Given the description of an element on the screen output the (x, y) to click on. 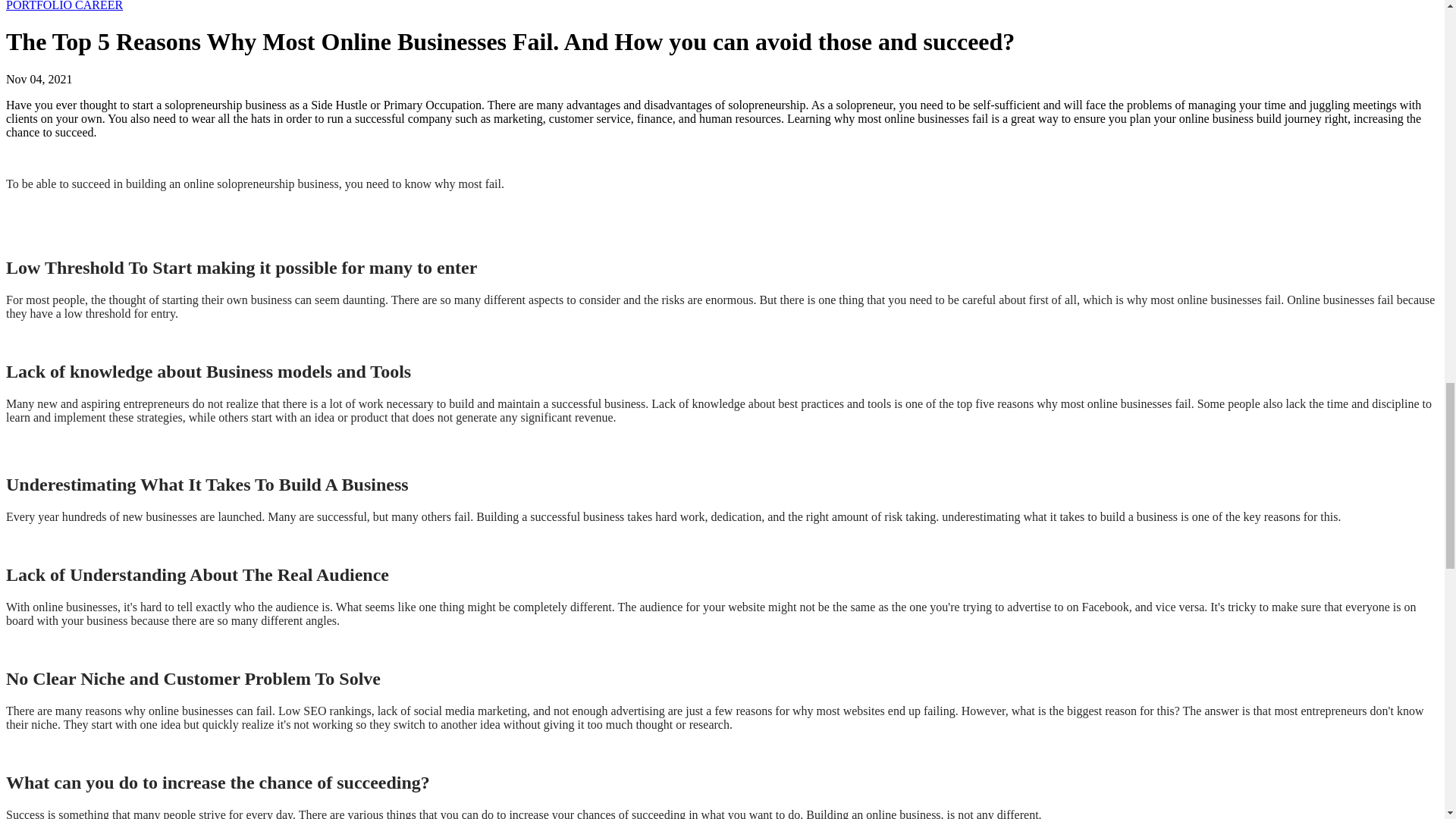
PORTFOLIO CAREER (63, 5)
